Given the description of an element on the screen output the (x, y) to click on. 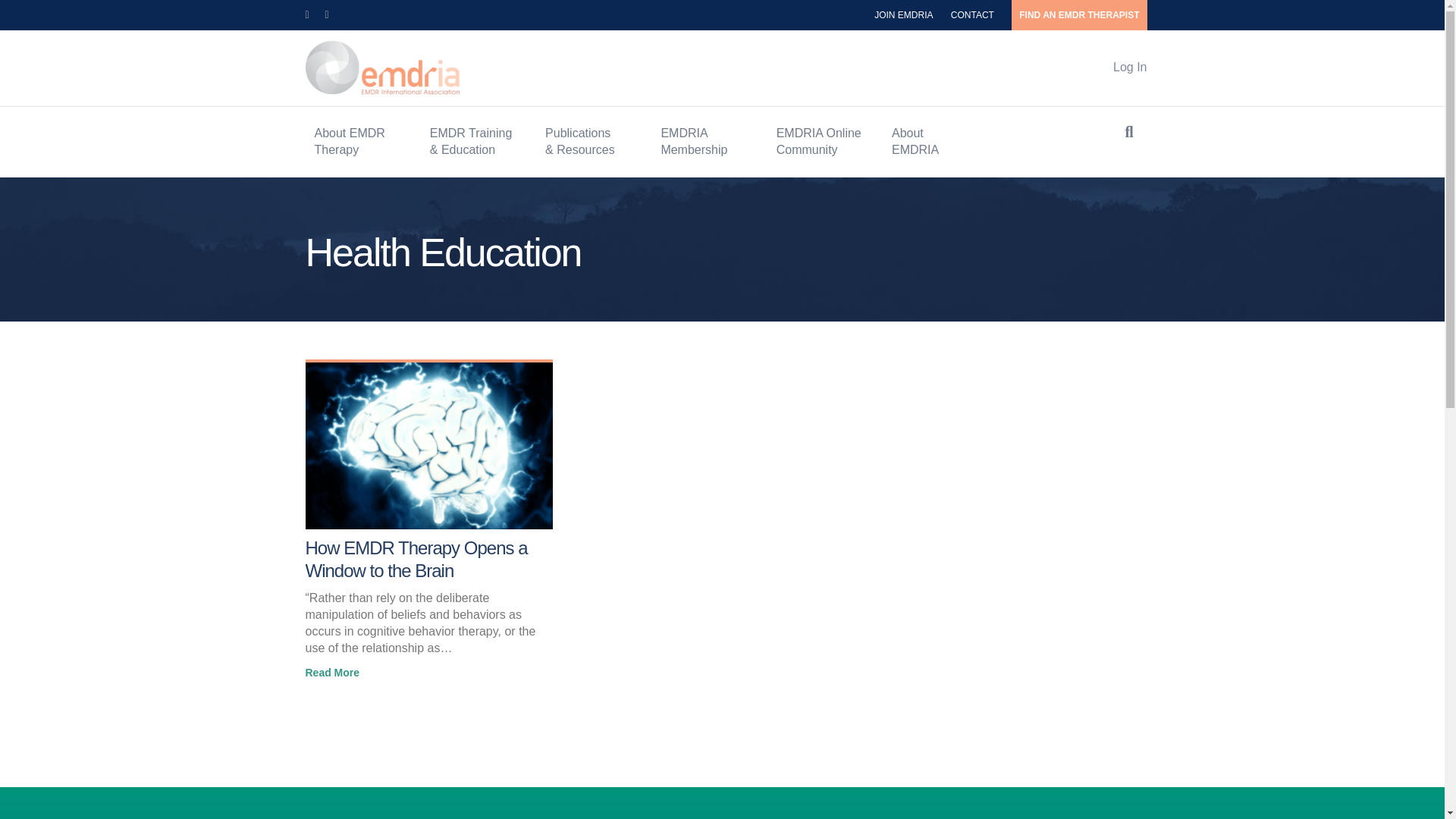
How EMDR Therapy Opens a Window to the Brain (331, 672)
How EMDR Therapy Opens a Window to the Brain (428, 444)
How EMDR Therapy Opens a Window to the Brain (415, 558)
